Given the description of an element on the screen output the (x, y) to click on. 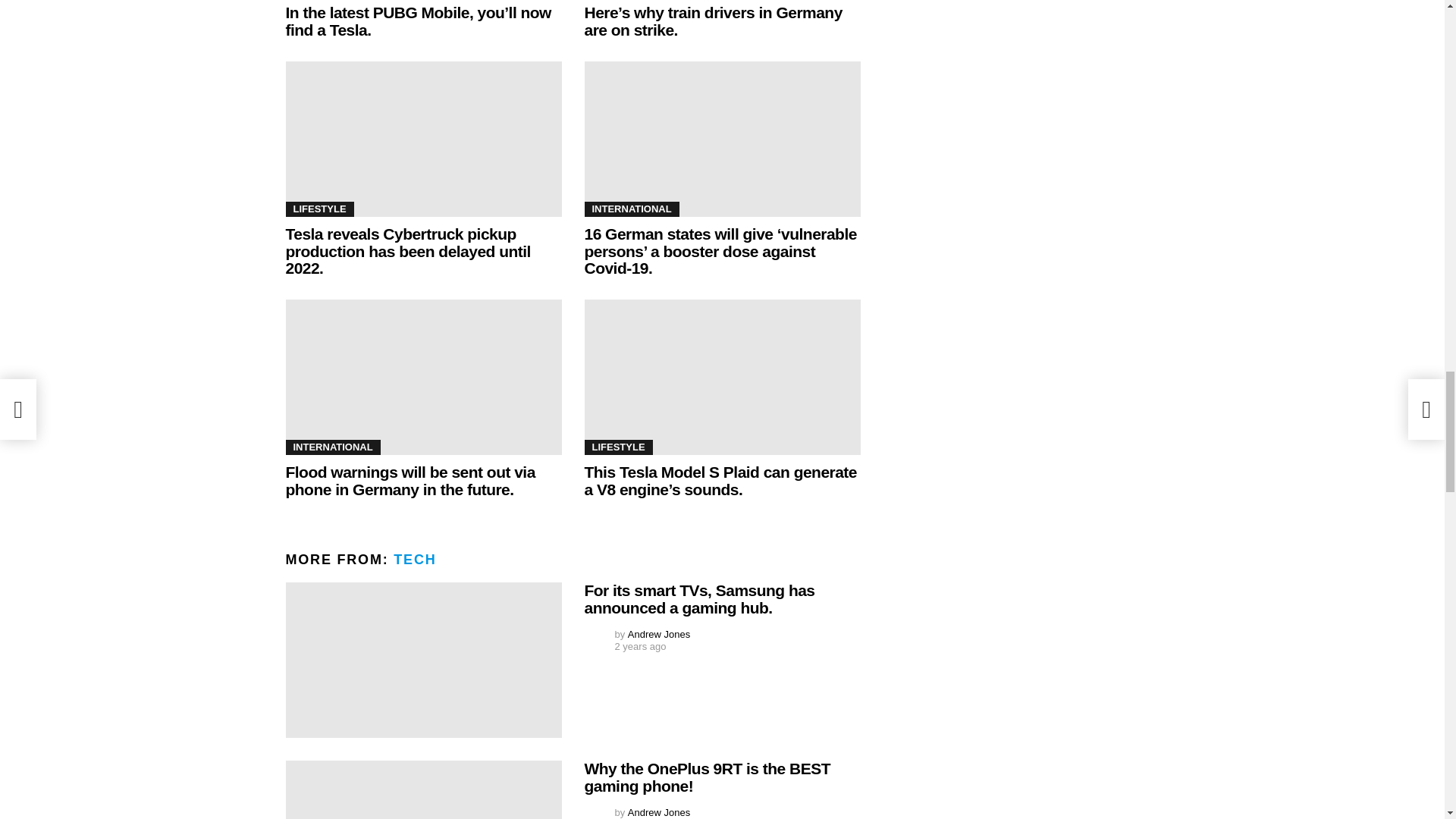
Posts by Andrew Jones (658, 633)
For its smart TVs, Samsung has announced a gaming hub. (422, 659)
LIFESTYLE (319, 209)
